Given the description of an element on the screen output the (x, y) to click on. 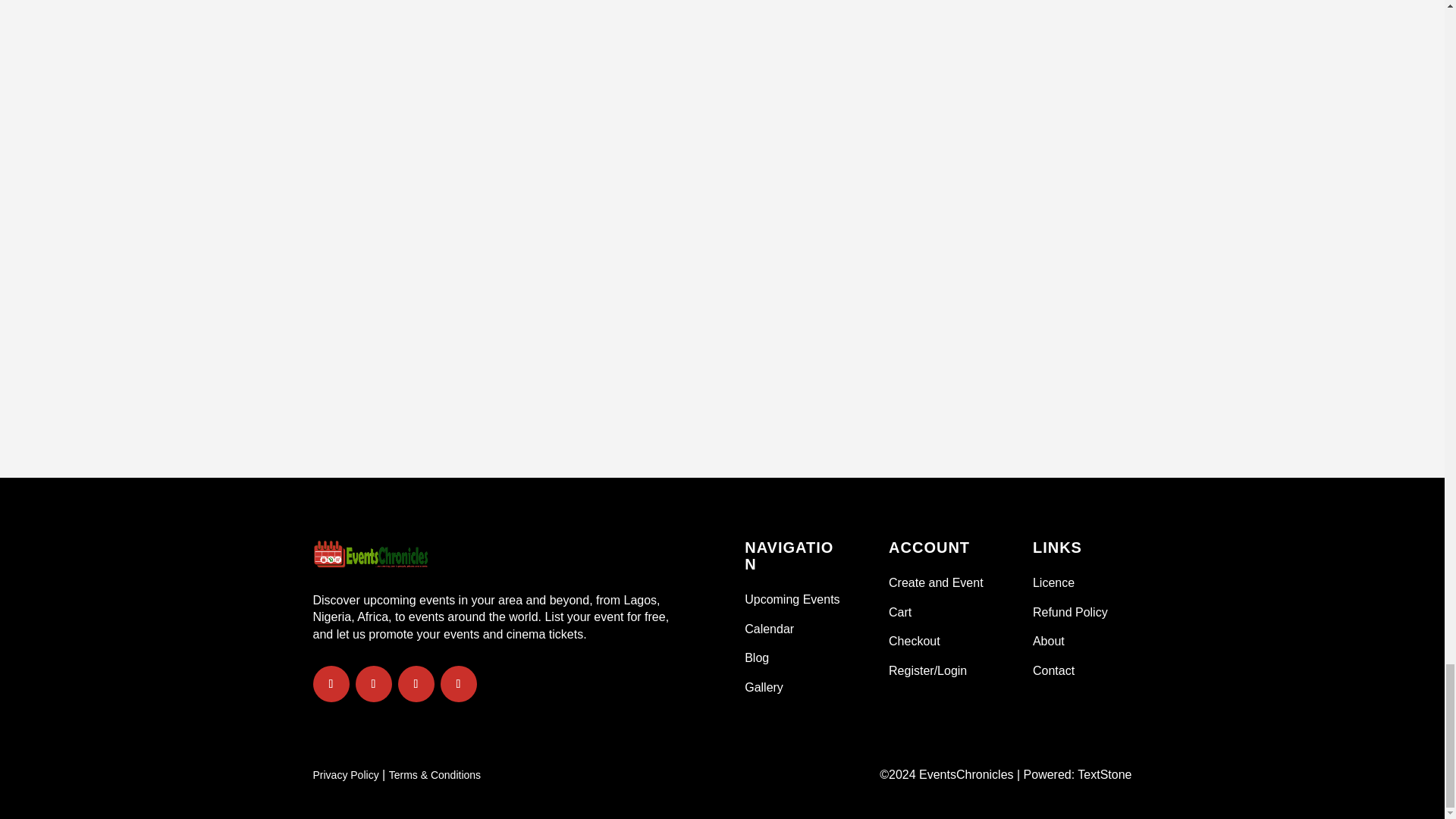
Follow on Facebook (331, 683)
Follow on Youtube (457, 683)
Follow on Instagram (415, 683)
Follow on X (373, 683)
